Given the description of an element on the screen output the (x, y) to click on. 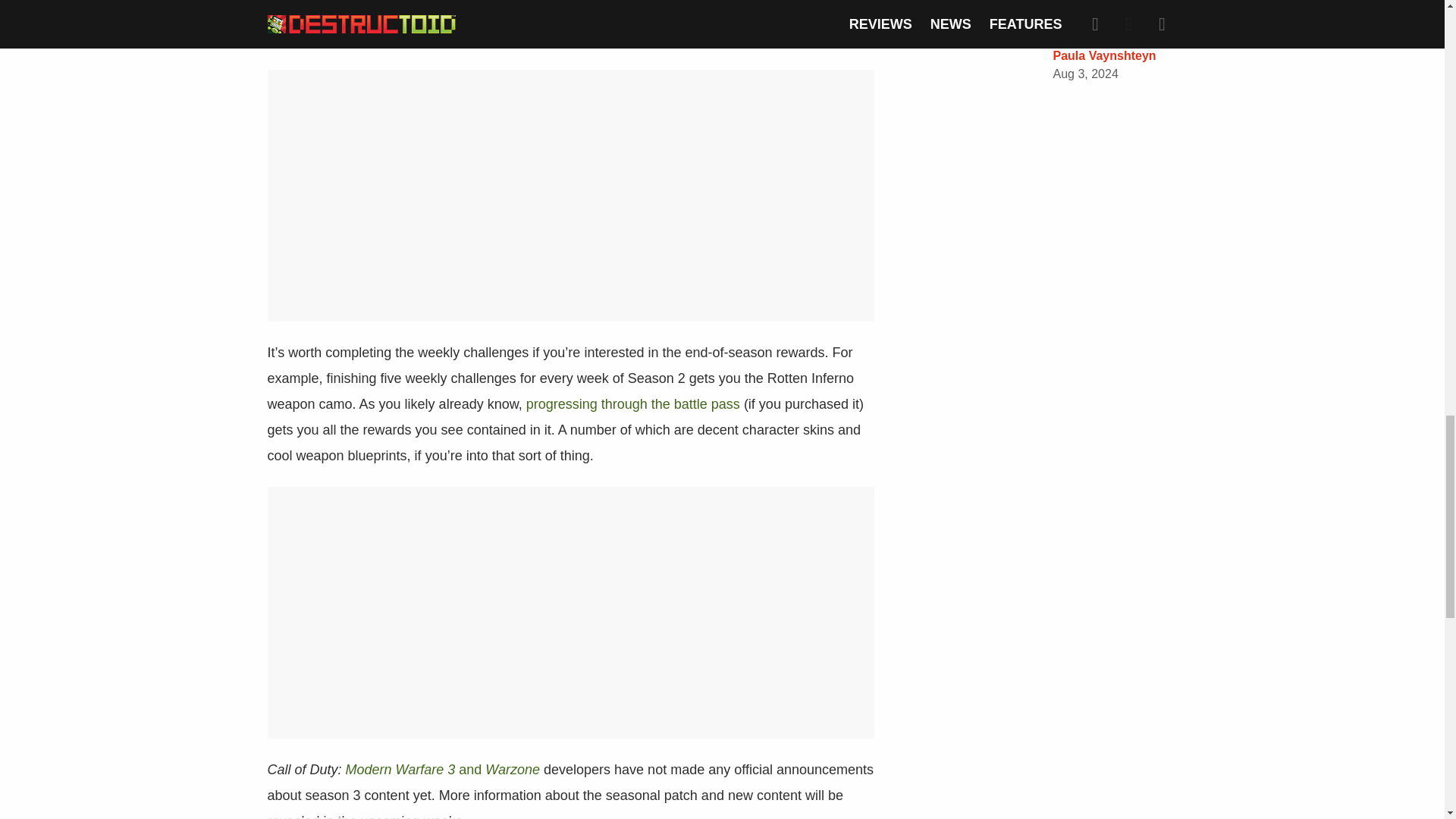
progressing through the battle pass (632, 403)
